Given the description of an element on the screen output the (x, y) to click on. 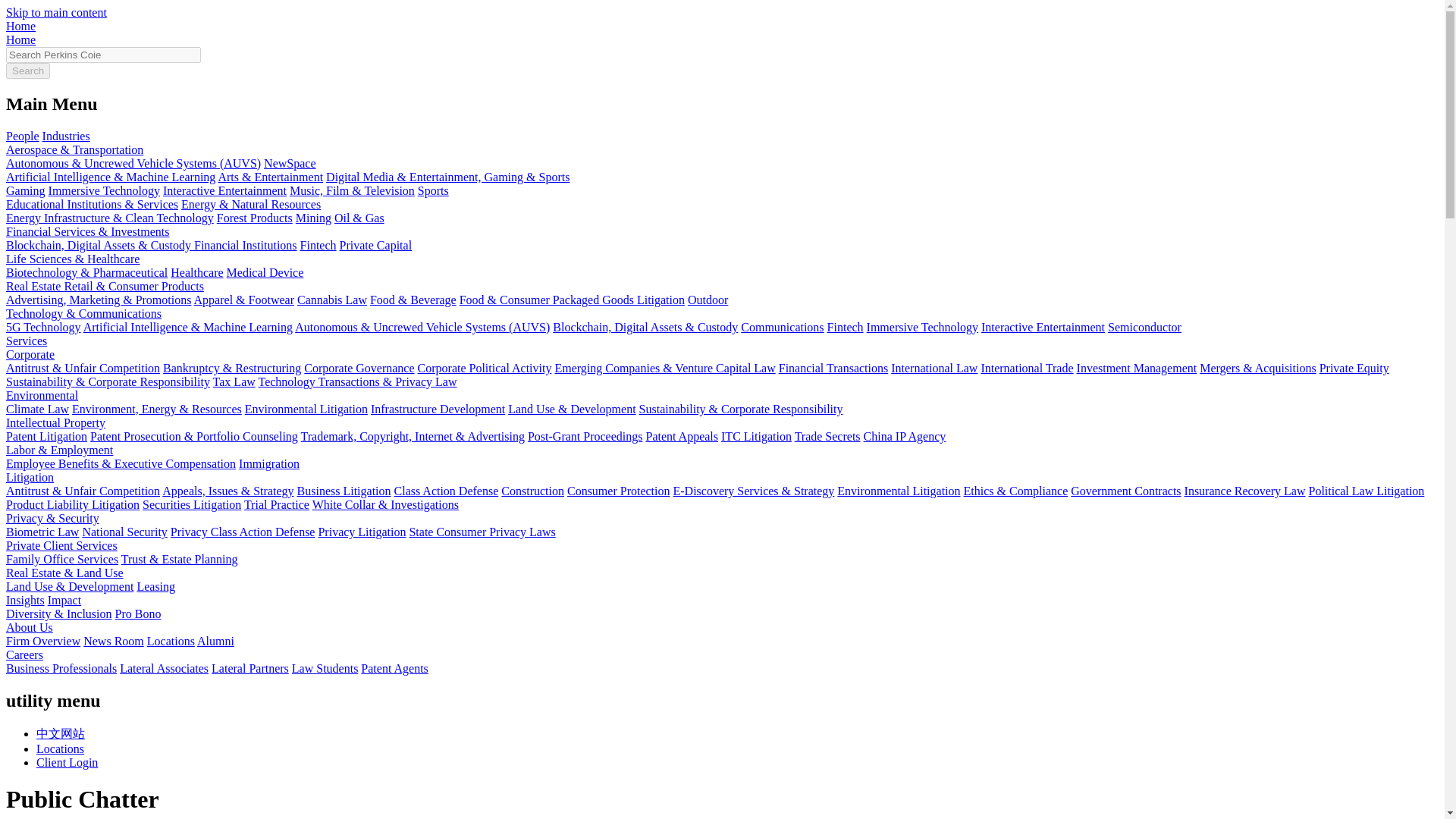
Home (19, 39)
Healthcare (196, 272)
Interactive Entertainment (224, 190)
Search (27, 70)
Cannabis Law (331, 299)
Real Estate (34, 286)
Fintech (317, 245)
Skip to main content (55, 11)
View all firm industries (66, 135)
Forest Products (254, 217)
